Given the description of an element on the screen output the (x, y) to click on. 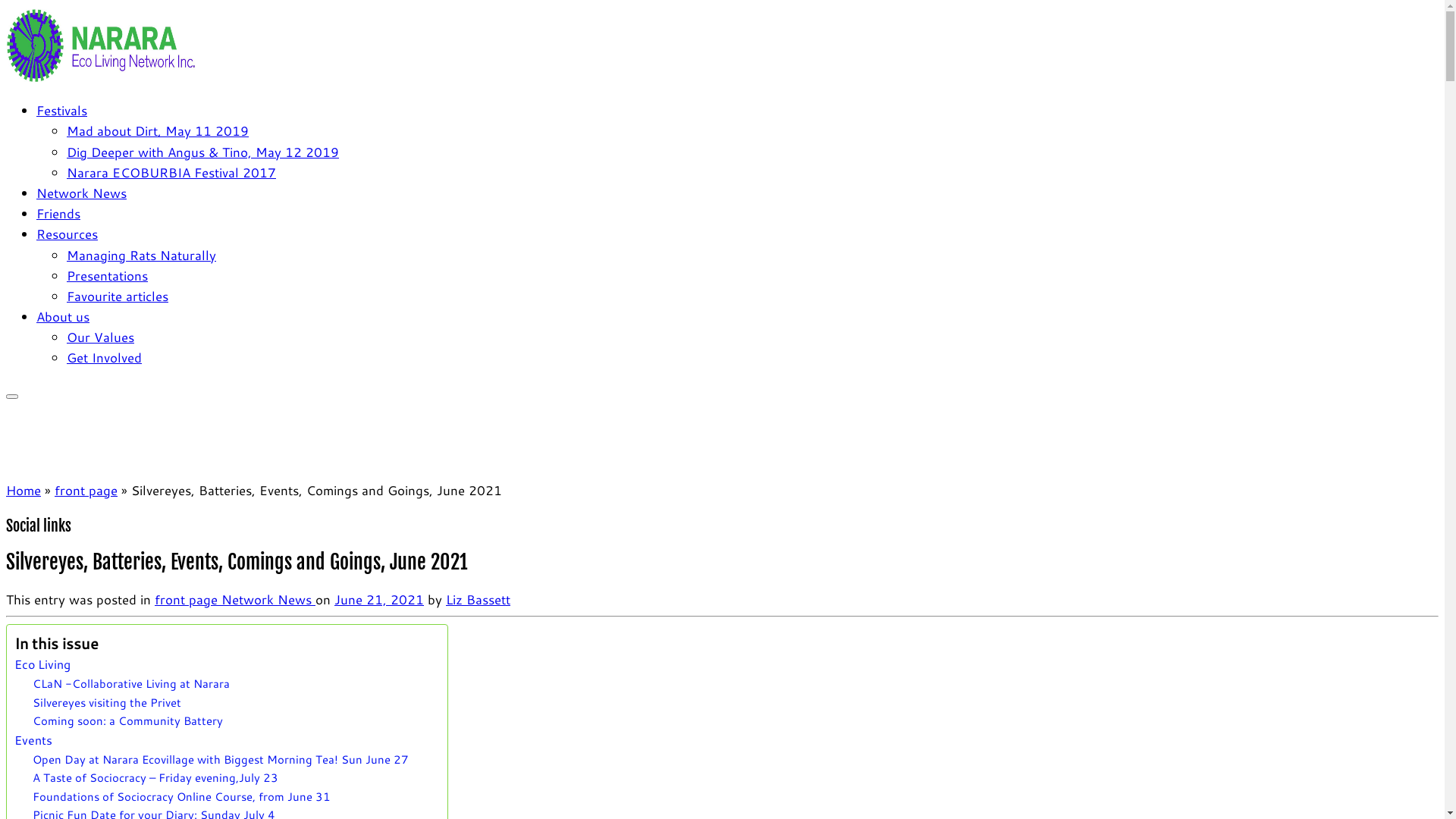
Presentations Element type: text (106, 275)
Dig Deeper with Angus & Tino, May 12 2019 Element type: text (202, 151)
Events Element type: text (33, 739)
Network News Element type: text (268, 598)
Managing Rats Naturally Element type: text (141, 254)
Narara ECOBURBIA Festival 2017 Element type: text (171, 172)
Coming soon: a Community Battery  Element type: text (128, 720)
Friends Element type: text (58, 212)
Open the menu Element type: hover (12, 396)
About us Element type: text (62, 316)
Resources Element type: text (66, 233)
Get Involved Element type: text (103, 357)
front page Element type: text (187, 598)
Favourite articles Element type: text (117, 295)
Silvereyes visiting the Privet Element type: text (106, 701)
Our Values Element type: text (100, 336)
Network News Element type: text (81, 192)
Festivals Element type: text (61, 109)
Mad about Dirt, May 11 2019 Element type: text (157, 130)
Liz Bassett Element type: text (477, 598)
front page Element type: text (85, 489)
June 21, 2021 Element type: text (378, 598)
CLaN -Collaborative Living at Narara  Element type: text (132, 682)
Eco Living Element type: text (42, 663)
Home Element type: text (23, 489)
Foundations of Sociocracy Online Course, from June 31 Element type: text (181, 795)
